Given the description of an element on the screen output the (x, y) to click on. 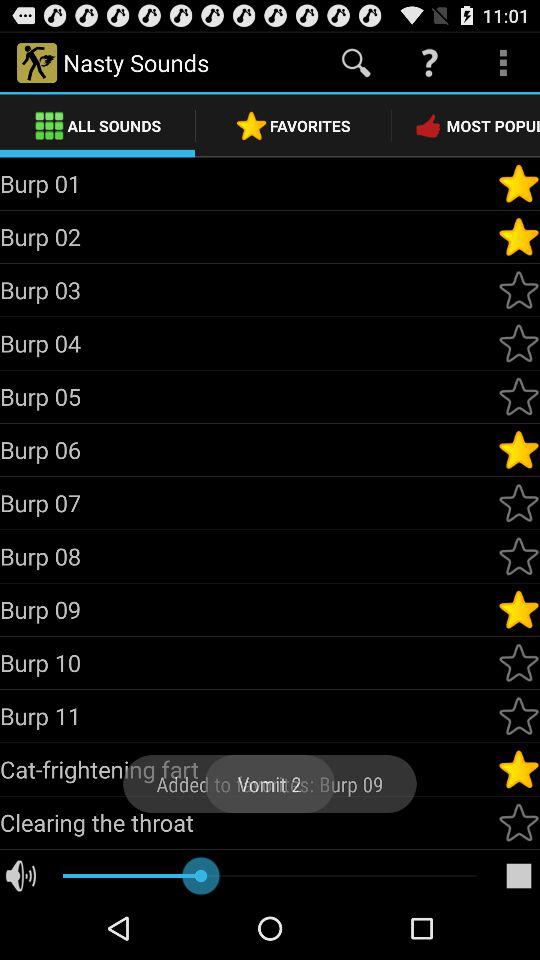
select burp 7 (519, 503)
